Given the description of an element on the screen output the (x, y) to click on. 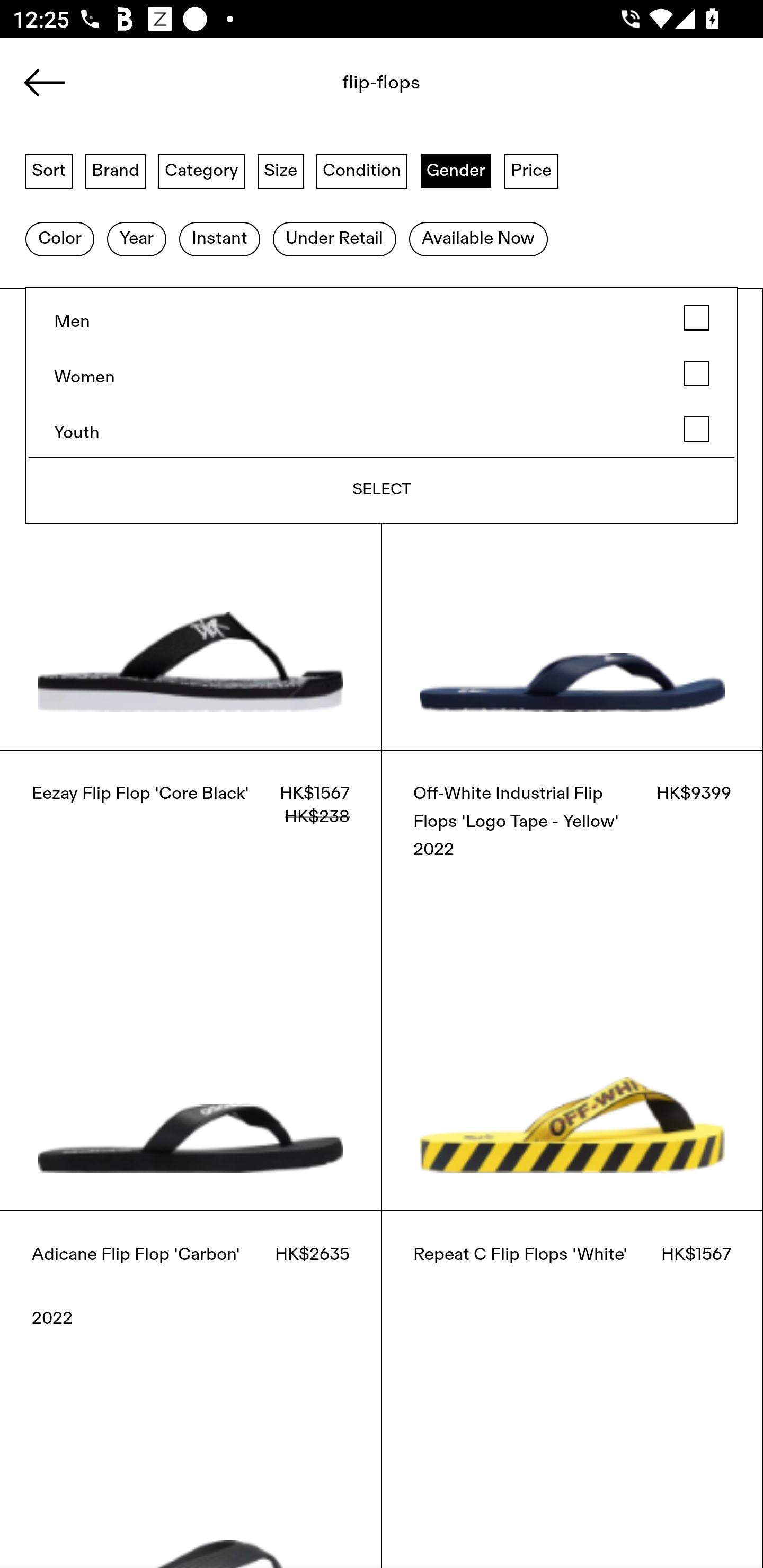
Search (340, 88)
Air Jordan 5 Retro 'Olive' 2024  (153, 168)
Air Foamposite One 'Eggplant' 2024  (445, 168)
Sort (48, 170)
Brand (115, 170)
Category (201, 170)
Size (280, 170)
Condition (361, 170)
Gender (455, 170)
Price (530, 170)
Color (59, 239)
Year (136, 239)
Instant (219, 239)
Under Retail (334, 239)
Available Now (477, 239)
Men (381, 318)
Women (381, 373)
Youth (381, 429)
SELECT (381, 488)
Eezay Flip Flop 'Core Black' HK$1567 HK$238 (190, 979)
Adicane Flip Flop 'Carbon' HK$2635 2022 (190, 1389)
Repeat C Flip Flops 'White' HK$1567 (572, 1389)
